Given the description of an element on the screen output the (x, y) to click on. 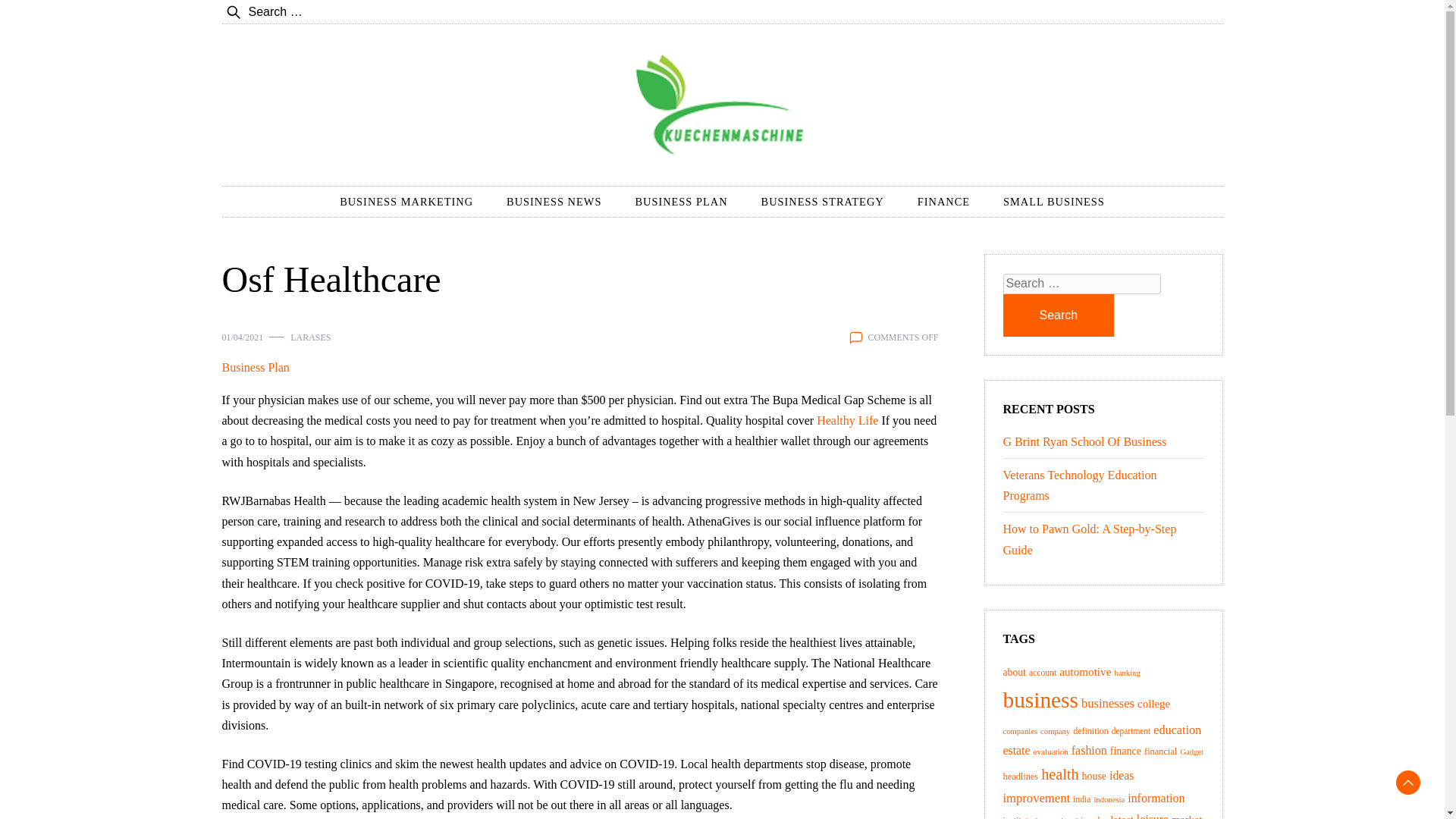
automotive (1084, 671)
Search (1058, 315)
companies (1019, 731)
BUSINESS NEWS (553, 201)
Search (1058, 315)
Business Plan (254, 367)
college (1153, 703)
Healthy Life (846, 420)
SMALL BUSINESS (1053, 201)
How to Pawn Gold: A Step-by-Step Guide (1089, 539)
businesses (1107, 703)
Veterans Technology Education Programs (1079, 485)
BUSINESS MARKETING (405, 201)
BUSINESS STRATEGY (822, 201)
business (1040, 699)
